Given the description of an element on the screen output the (x, y) to click on. 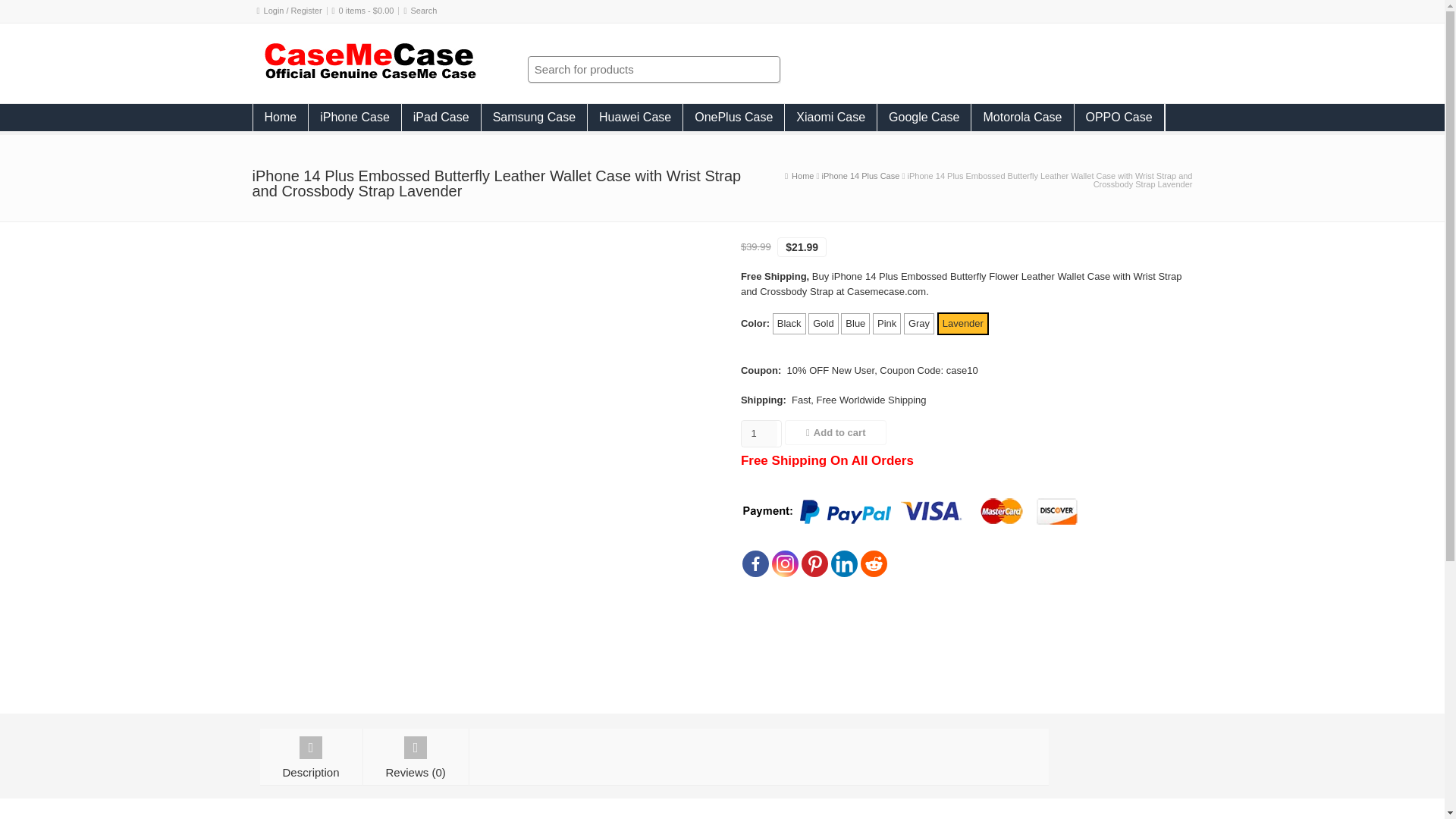
Search (424, 10)
Search (424, 10)
Facebook (755, 563)
Instagram (784, 563)
1 (759, 433)
Reddit (873, 563)
iPhone Case (354, 117)
Linkedin (844, 563)
Home (280, 117)
Official CaseMe Case (802, 175)
Official CaseMe Case (369, 76)
View your shopping cart (366, 10)
Pinterest (815, 563)
